Given the description of an element on the screen output the (x, y) to click on. 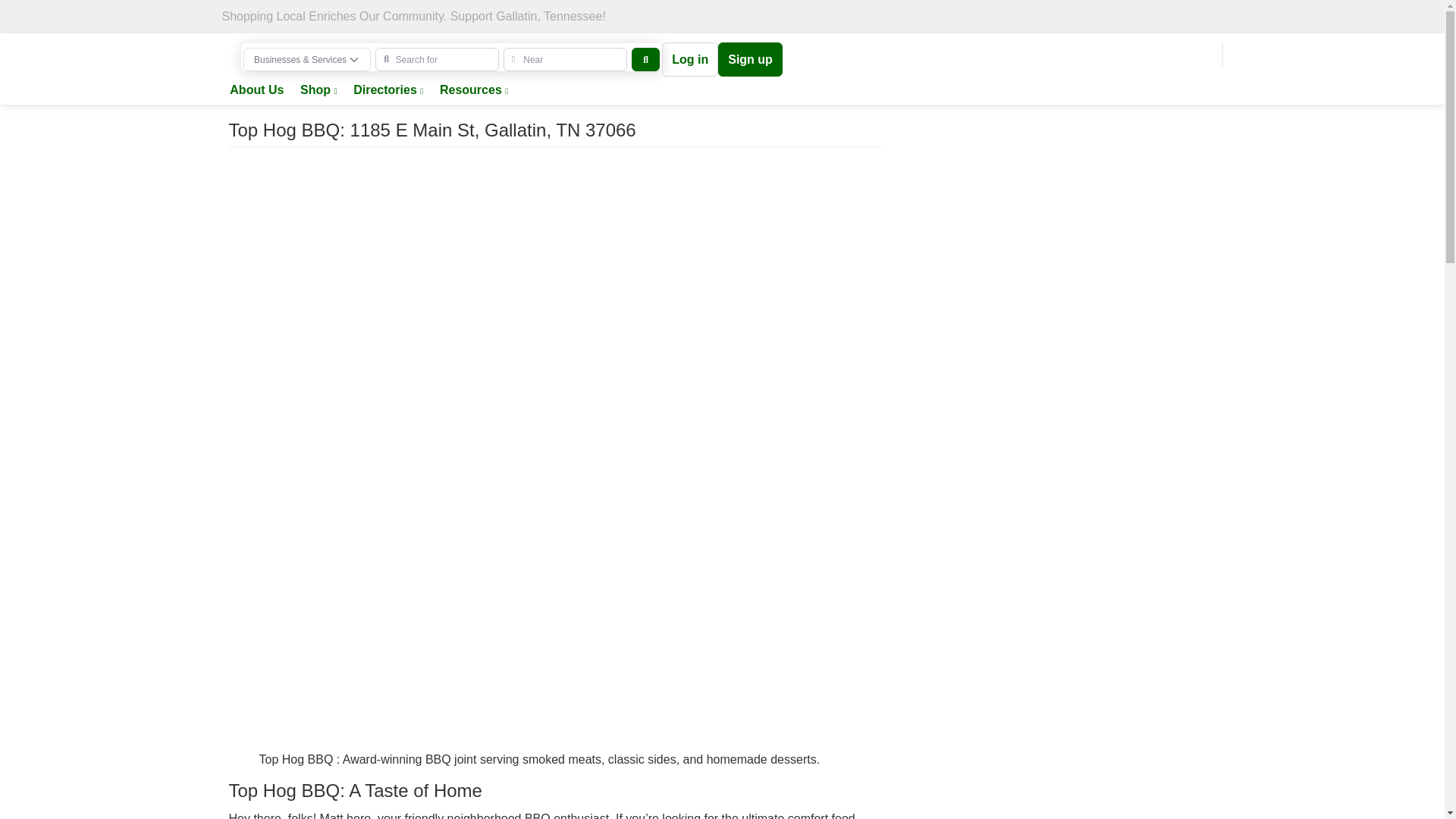
Search (645, 59)
About Us (256, 90)
Directories (387, 90)
Shop (318, 90)
Resources (473, 90)
Log in (689, 59)
Sign up (750, 59)
